Given the description of an element on the screen output the (x, y) to click on. 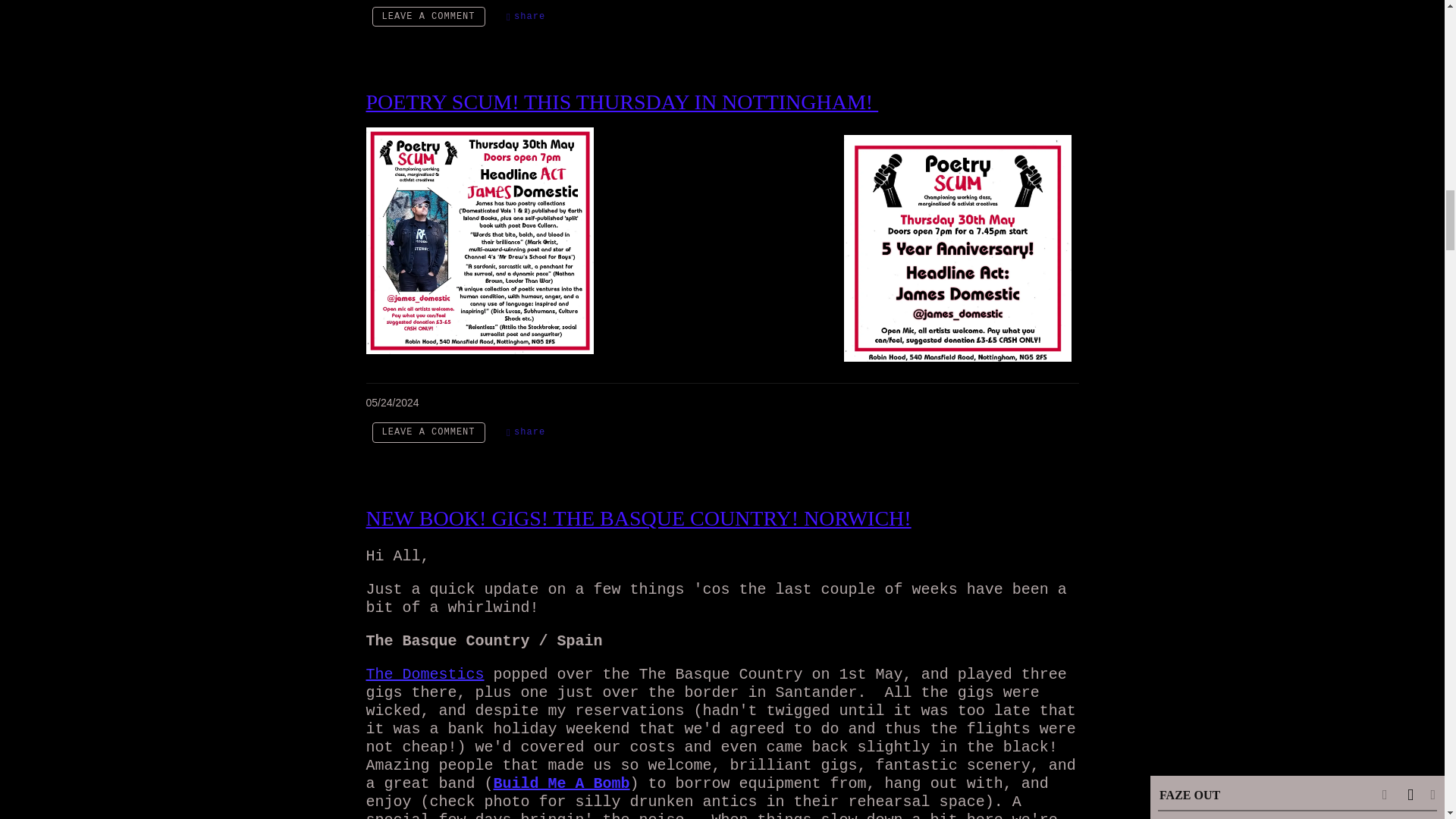
Leave a comment (427, 432)
Share POETRY SCUM! THIS THURSDAY IN NOTTINGHAM!  (525, 432)
Share IT'S ALL BEEN HAPPENIN'! UPDATES GALORE! (525, 16)
May 24, 2024 13:09 (392, 402)
Leave a comment (427, 16)
